Given the description of an element on the screen output the (x, y) to click on. 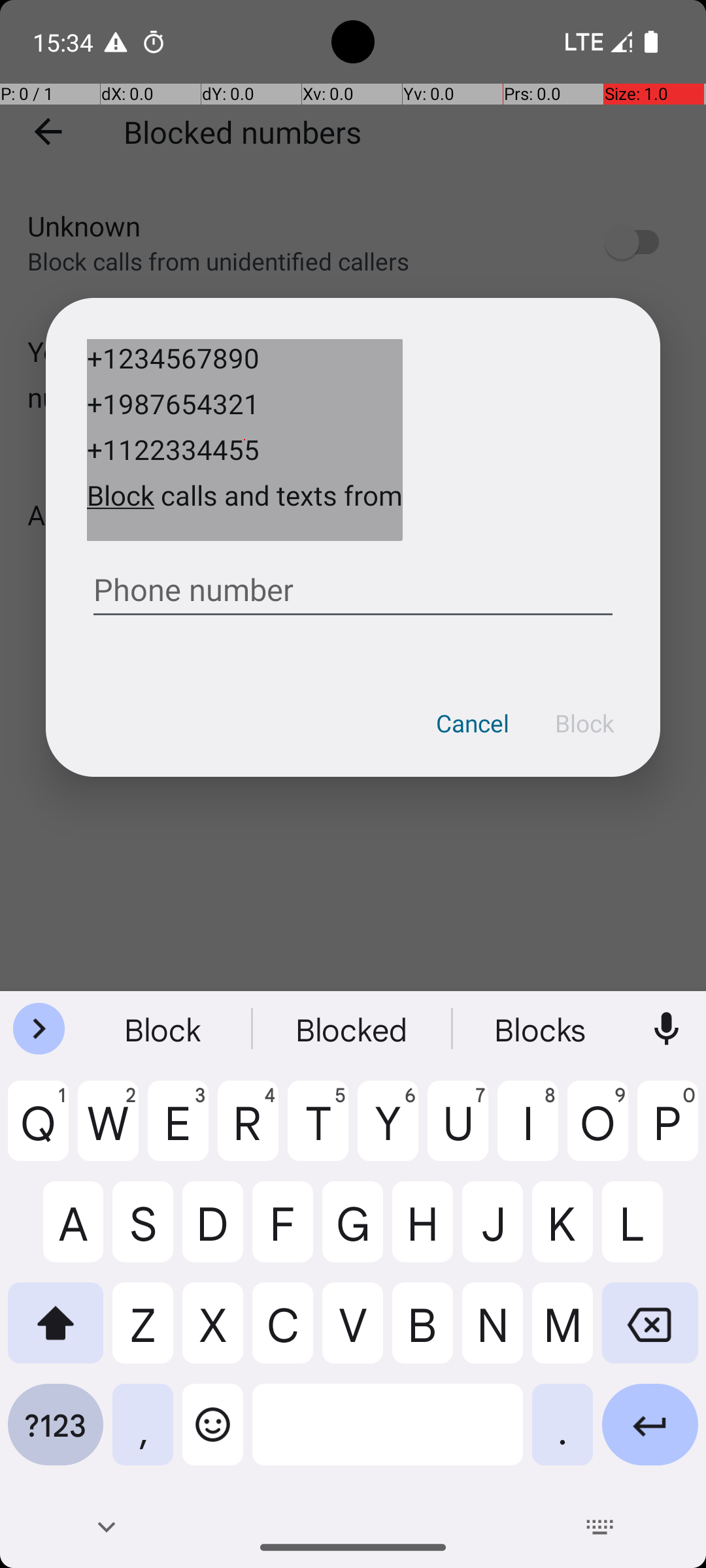
+1234567890
+1987654321
+1122334455
Block calls and texts from Element type: android.widget.TextView (244, 439)
Phone number Element type: android.widget.EditText (352, 584)
Block Element type: android.widget.Button (584, 722)
Open features menu Element type: android.widget.FrameLayout (39, 1028)
Blocked Element type: android.widget.FrameLayout (352, 1028)
Blocks Element type: android.widget.FrameLayout (541, 1028)
Voice input Element type: android.widget.FrameLayout (666, 1028)
Q Element type: android.widget.FrameLayout (38, 1130)
E Element type: android.widget.FrameLayout (178, 1130)
R Element type: android.widget.FrameLayout (248, 1130)
Y Element type: android.widget.FrameLayout (387, 1130)
U Element type: android.widget.FrameLayout (457, 1130)
I Element type: android.widget.FrameLayout (527, 1130)
O Element type: android.widget.FrameLayout (597, 1130)
P Element type: android.widget.FrameLayout (667, 1130)
A Element type: android.widget.FrameLayout (55, 1231)
D Element type: android.widget.FrameLayout (212, 1231)
G Element type: android.widget.FrameLayout (352, 1231)
H Element type: android.widget.FrameLayout (422, 1231)
J Element type: android.widget.FrameLayout (492, 1231)
K Element type: android.widget.FrameLayout (562, 1231)
L Element type: android.widget.FrameLayout (649, 1231)
Shift Element type: android.widget.FrameLayout (55, 1332)
Z Element type: android.widget.FrameLayout (142, 1332)
X Element type: android.widget.FrameLayout (212, 1332)
C Element type: android.widget.FrameLayout (282, 1332)
V Element type: android.widget.FrameLayout (352, 1332)
B Element type: android.widget.FrameLayout (422, 1332)
N Element type: android.widget.FrameLayout (492, 1332)
Symbol keyboard Element type: android.widget.FrameLayout (55, 1434)
Emoji button Element type: android.widget.FrameLayout (212, 1434)
Enter Element type: android.widget.FrameLayout (649, 1434)
